Given the description of an element on the screen output the (x, y) to click on. 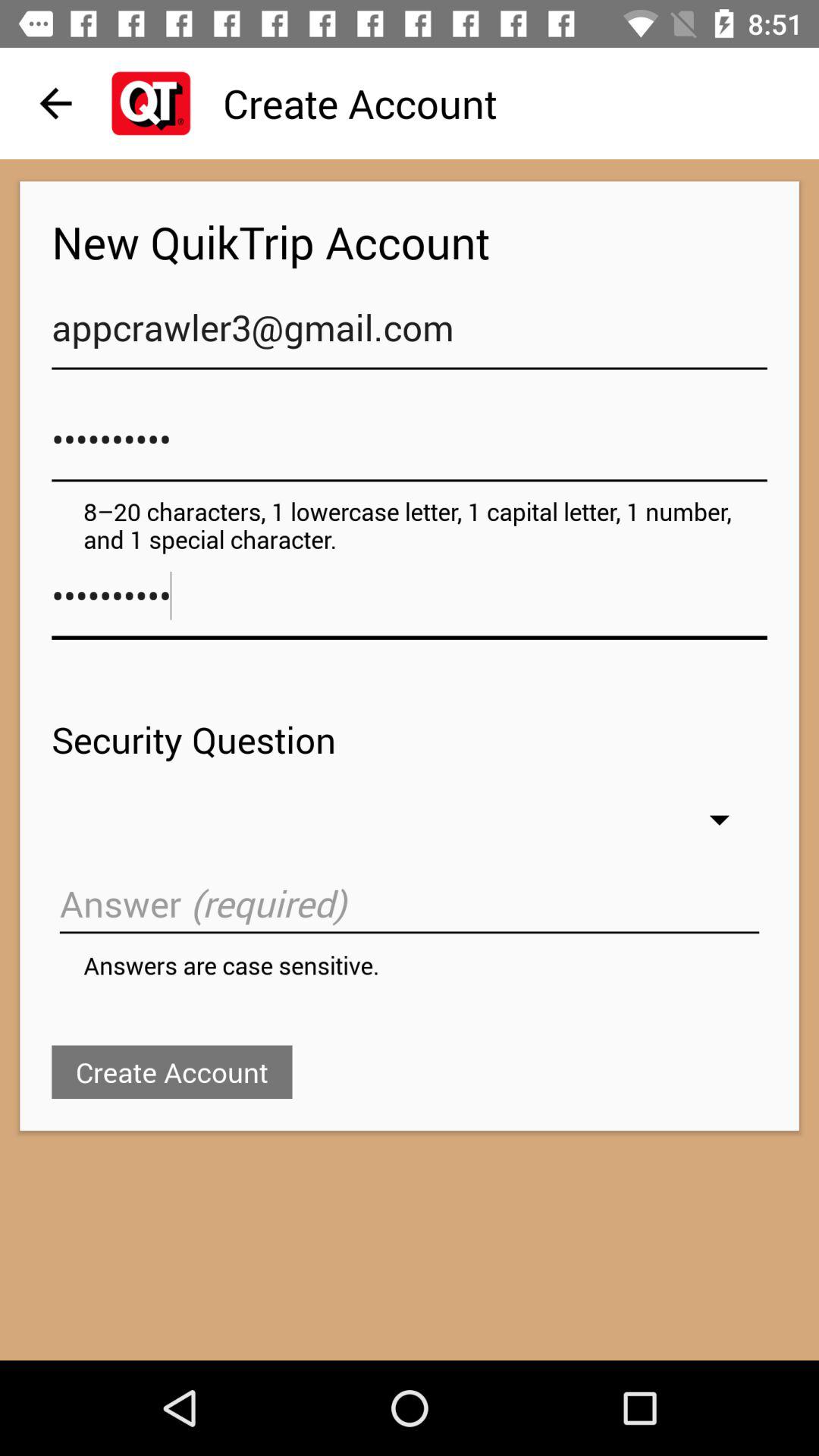
tap icon below new quiktrip account (409, 335)
